Given the description of an element on the screen output the (x, y) to click on. 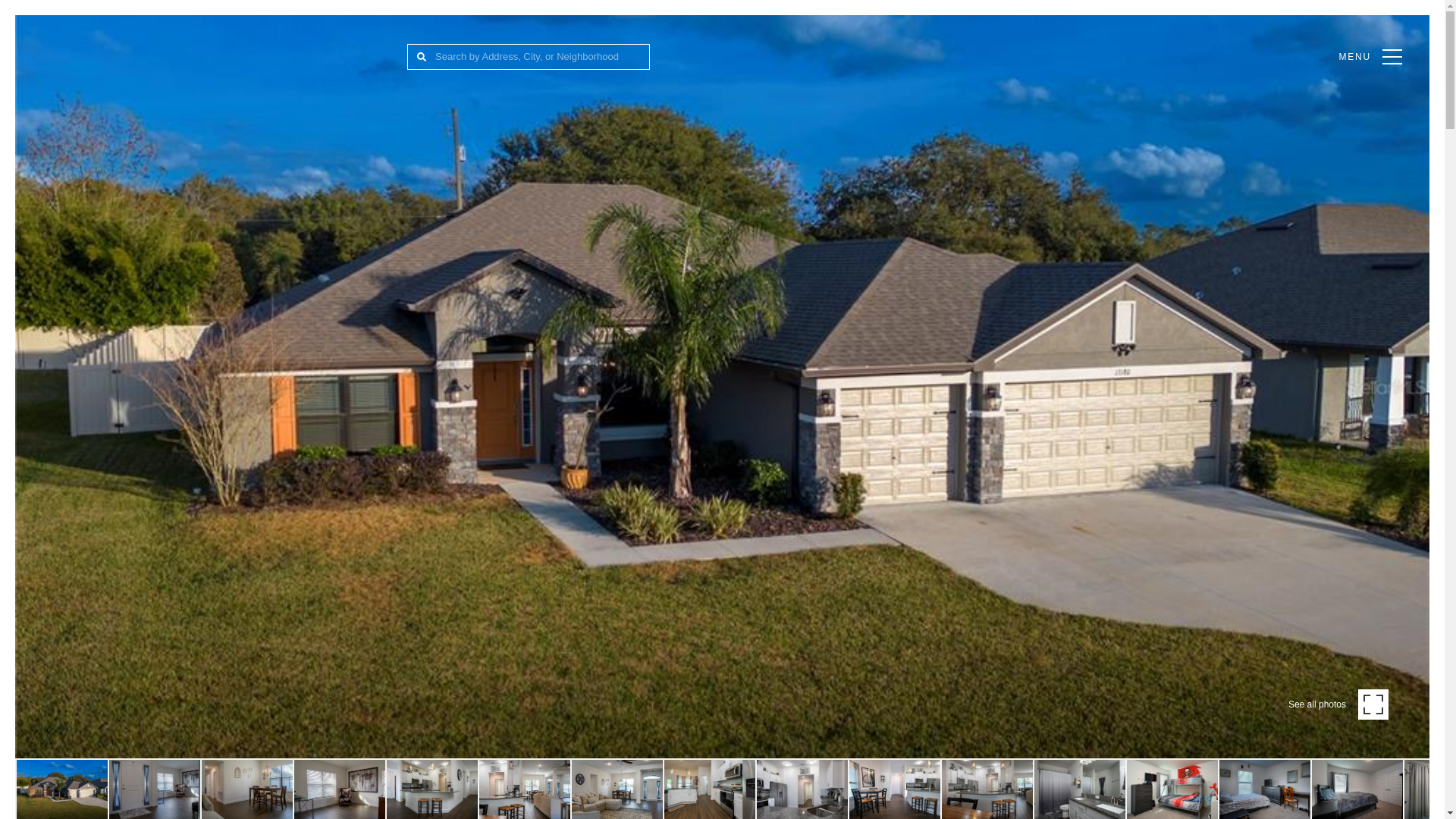
See all photos (1338, 703)
MENU (1369, 56)
